Given the description of an element on the screen output the (x, y) to click on. 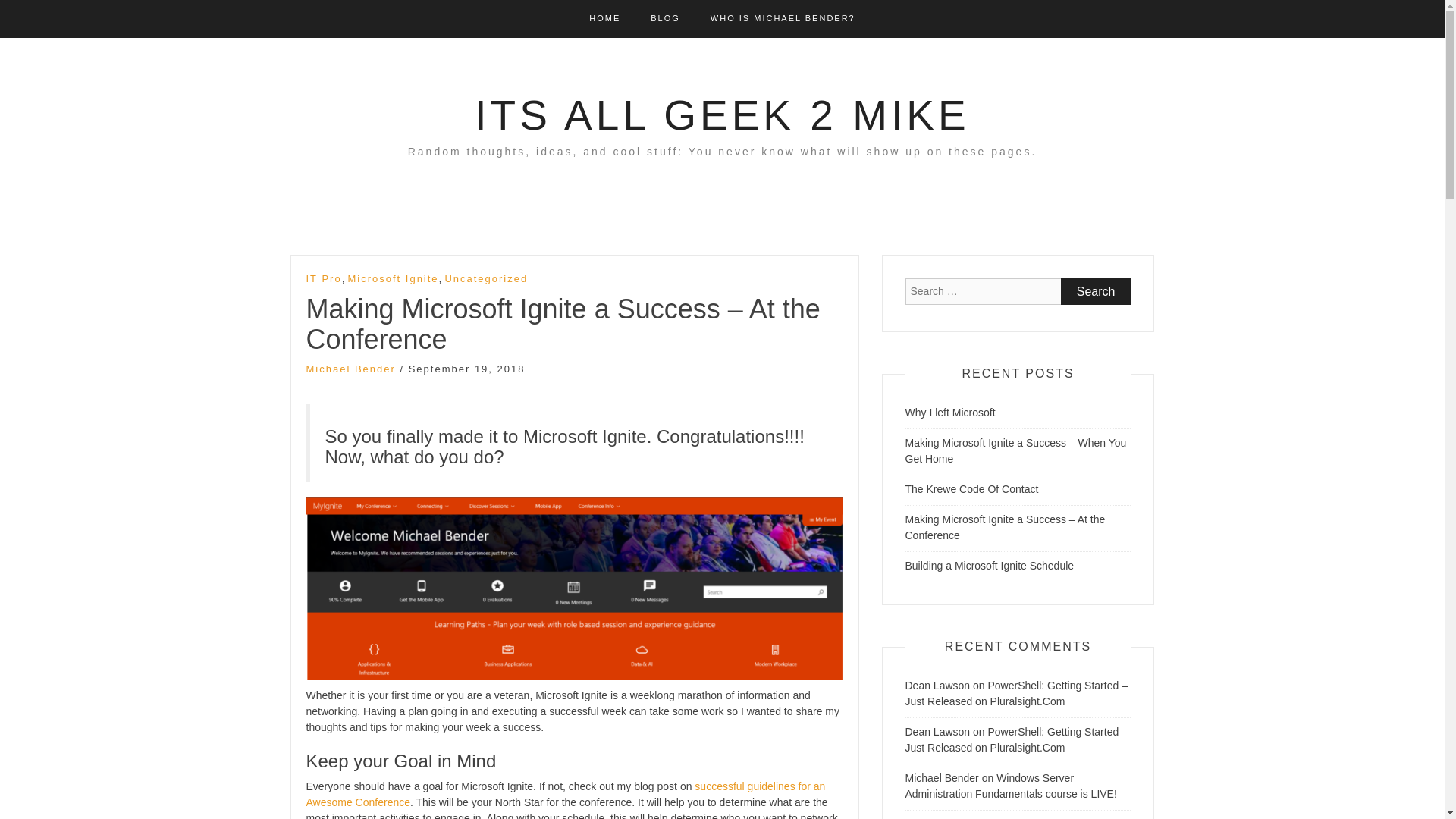
Microsoft Ignite (392, 278)
Building a Microsoft Ignite Schedule (989, 565)
Dean Lawson (938, 685)
Michael Bender (941, 777)
Dean Lawson (938, 731)
Michael Bender (350, 368)
Uncategorized (485, 278)
IT Pro (323, 278)
ITS ALL GEEK 2 MIKE (721, 114)
WHO IS MICHAEL BENDER? (783, 18)
